Given the description of an element on the screen output the (x, y) to click on. 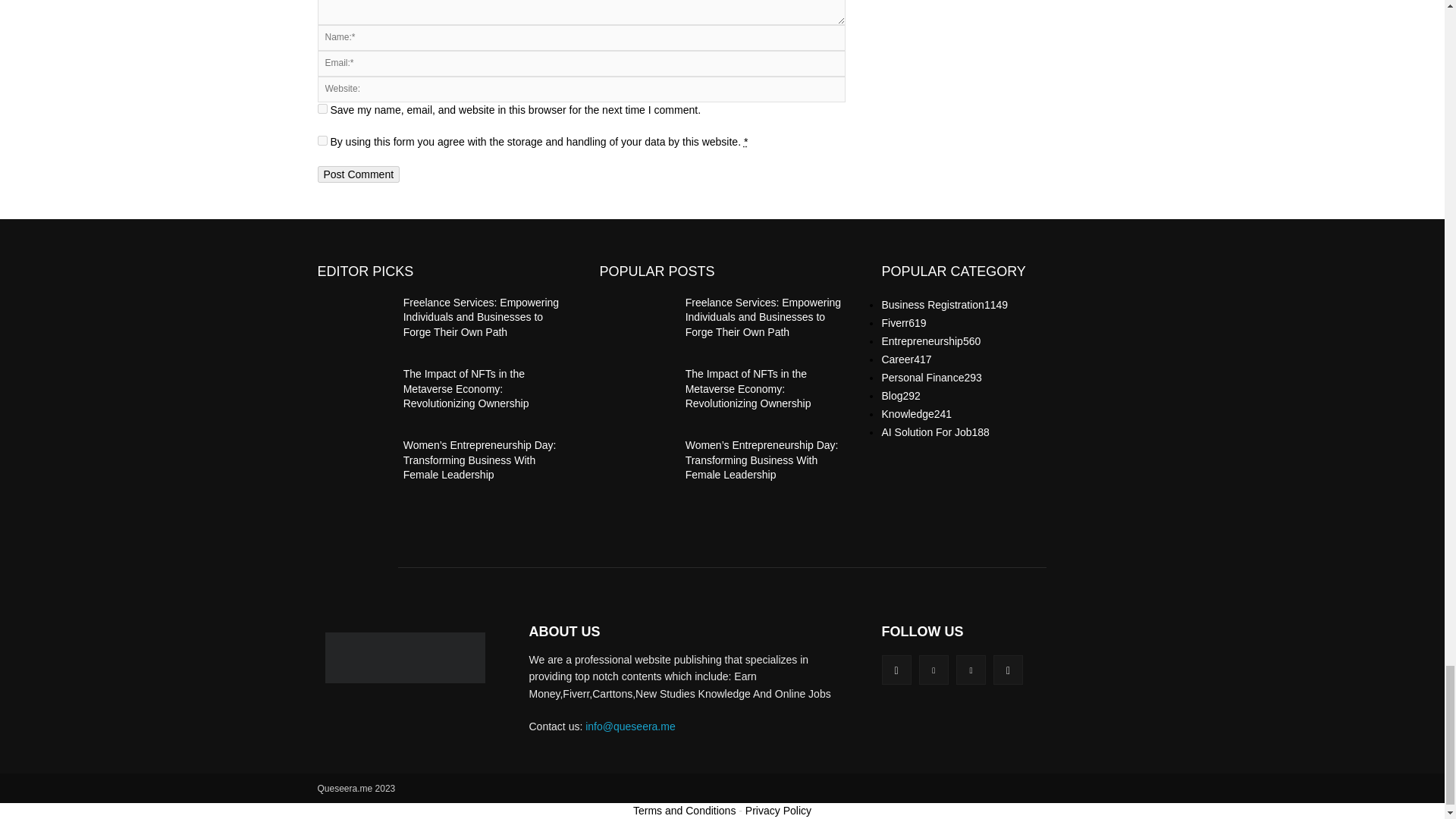
Post Comment (357, 174)
1 (321, 140)
yes (321, 108)
